Given the description of an element on the screen output the (x, y) to click on. 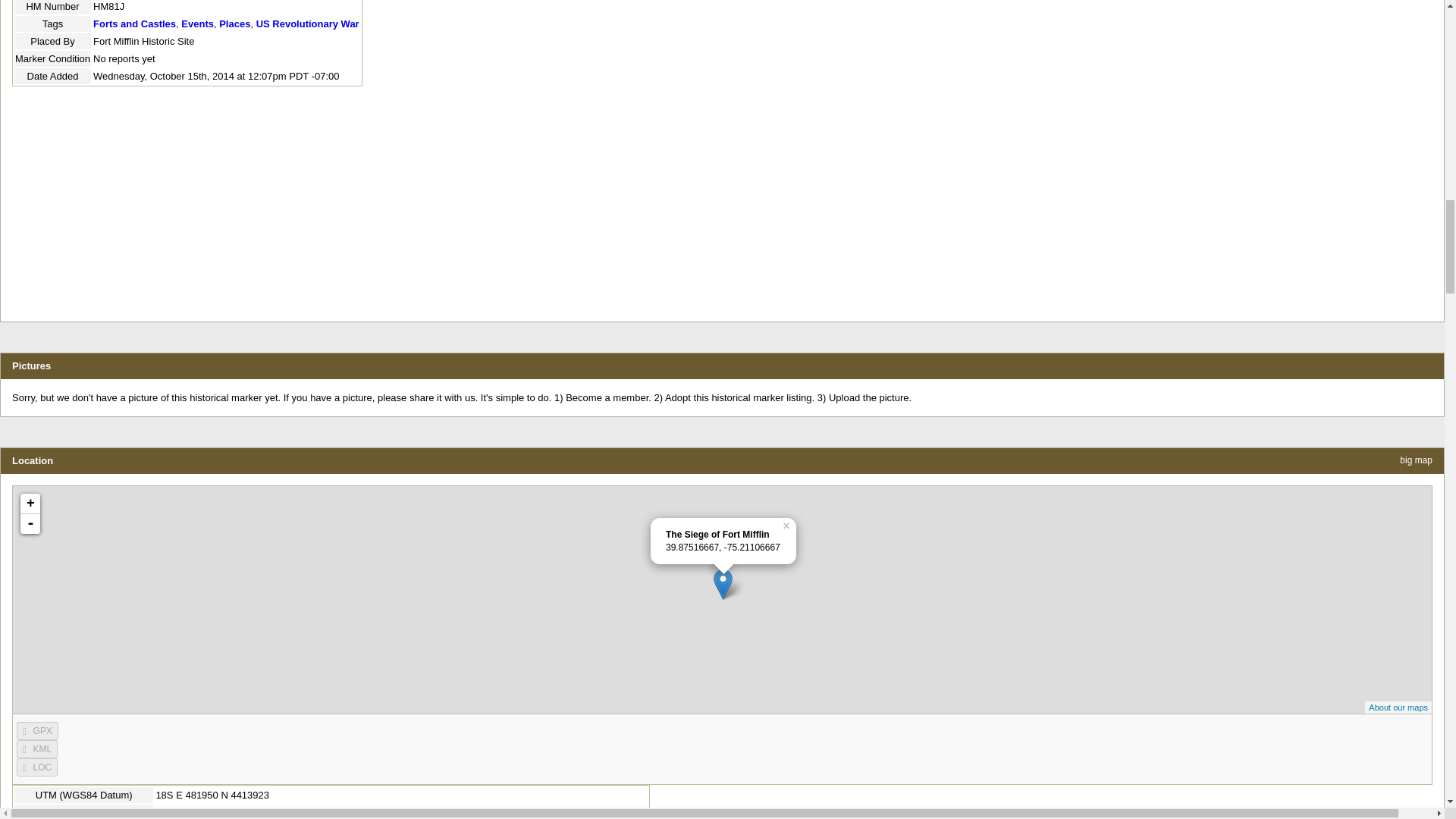
KML (37, 749)
Places (234, 23)
About our maps (1398, 706)
Forts and Castles (134, 23)
GPX (37, 730)
LOC (37, 767)
- (30, 523)
big map (1415, 460)
US Revolutionary War (307, 23)
Events (197, 23)
